Given the description of an element on the screen output the (x, y) to click on. 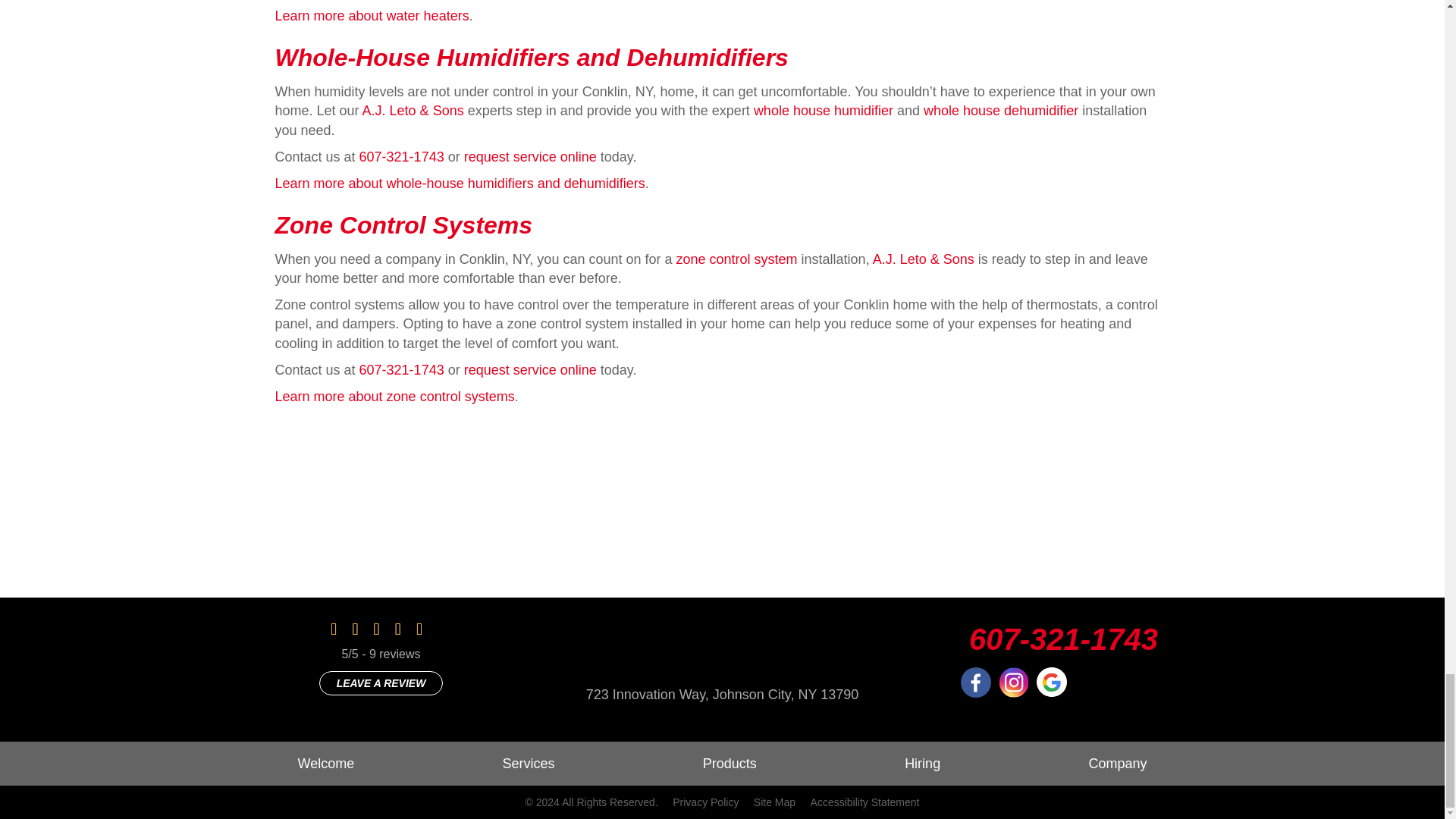
icon-bbb (1127, 682)
ajl-logo (722, 630)
